Given the description of an element on the screen output the (x, y) to click on. 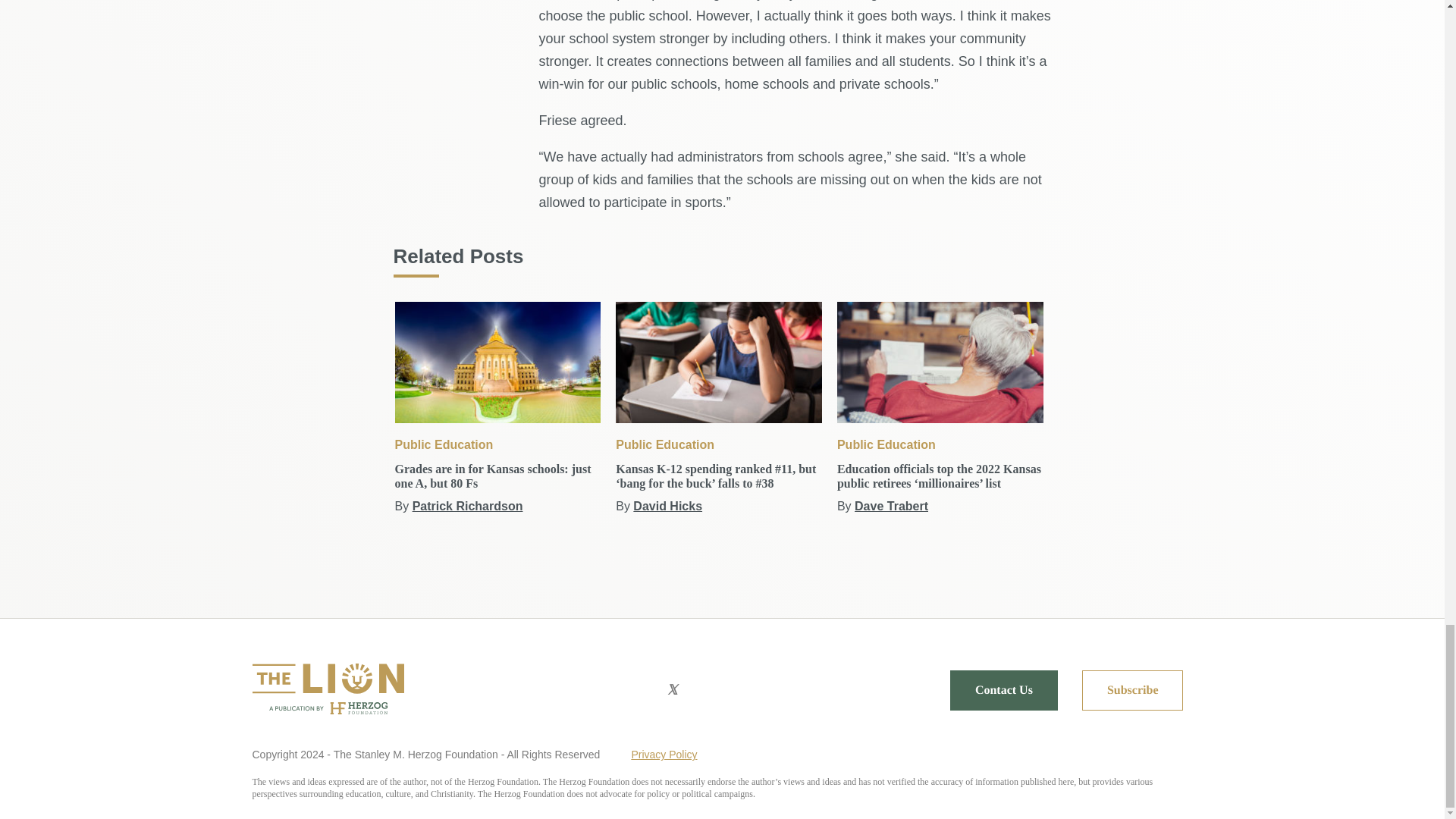
Grades are in for Kansas schools: just one A, but 80 Fs (496, 362)
Twitter (672, 690)
